Given the description of an element on the screen output the (x, y) to click on. 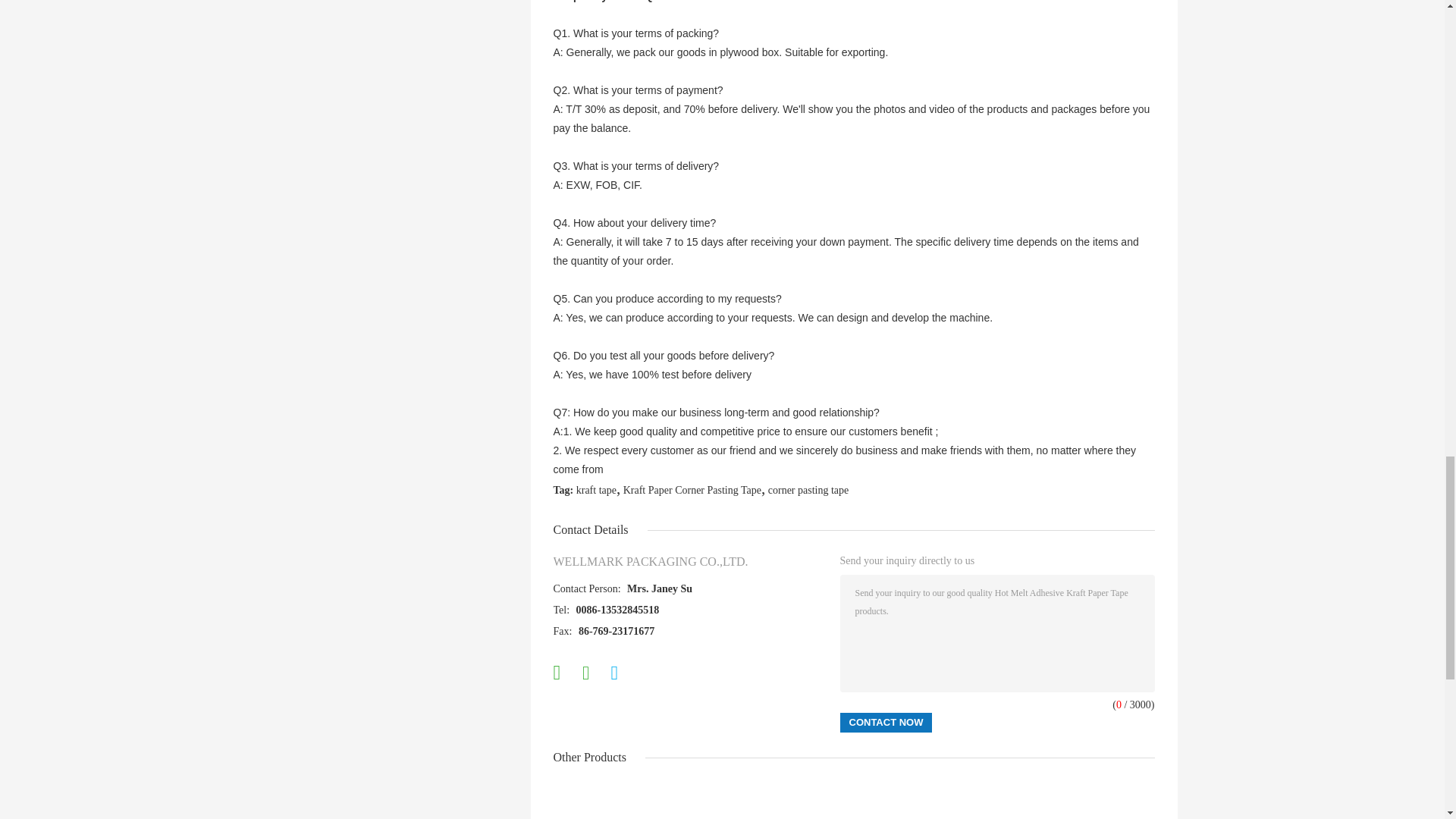
Contact Now (886, 722)
